Given the description of an element on the screen output the (x, y) to click on. 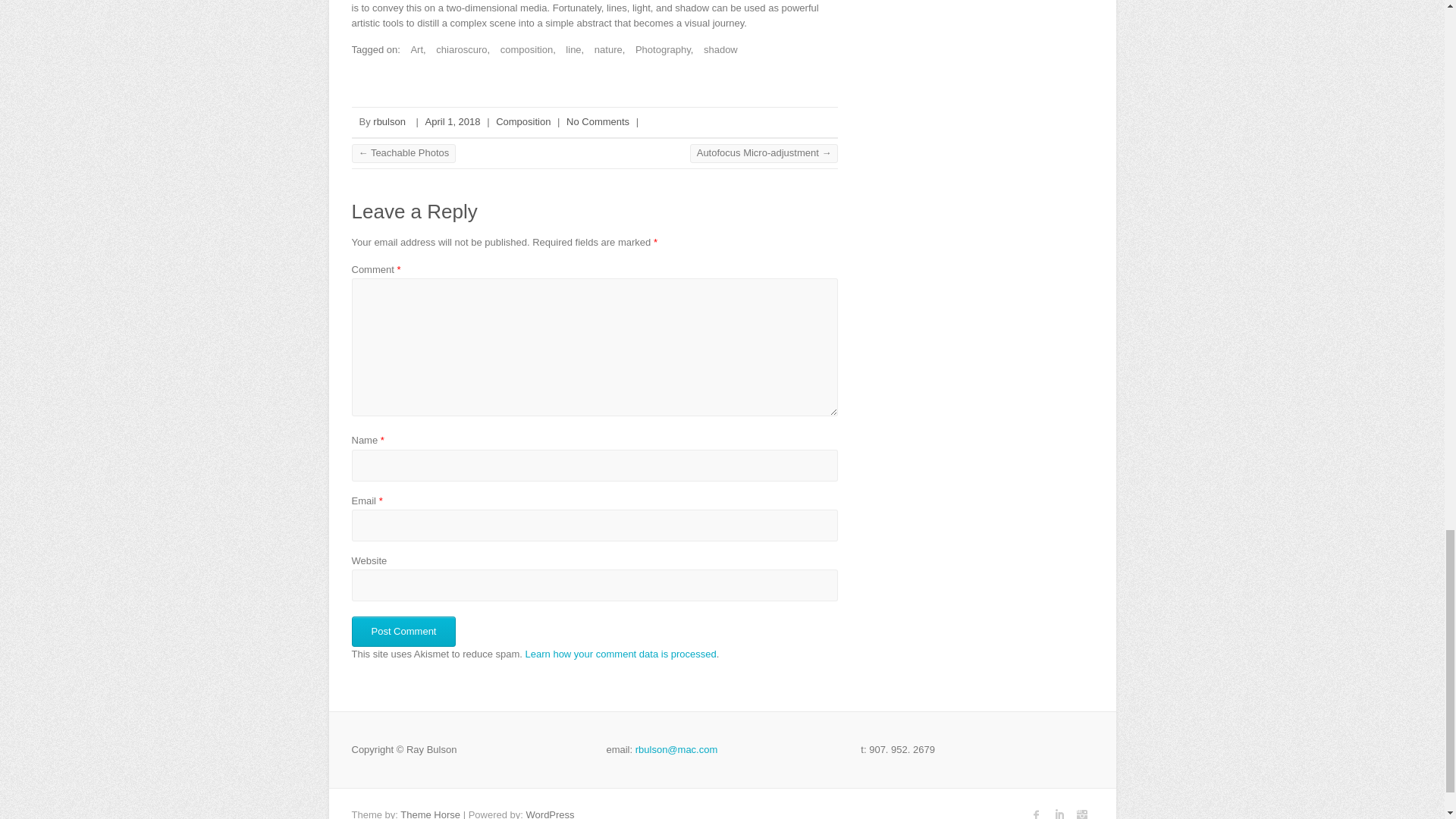
shadow (716, 49)
line (568, 49)
Art (413, 49)
Composition (523, 121)
rbulson (389, 121)
Post Comment (404, 631)
nature (604, 49)
Post Comment (404, 631)
No Comments (597, 121)
7:21 am (452, 121)
composition (523, 49)
April 1, 2018 (452, 121)
Learn how your comment data is processed (620, 654)
Photography (658, 49)
chiaroscuro (457, 49)
